Given the description of an element on the screen output the (x, y) to click on. 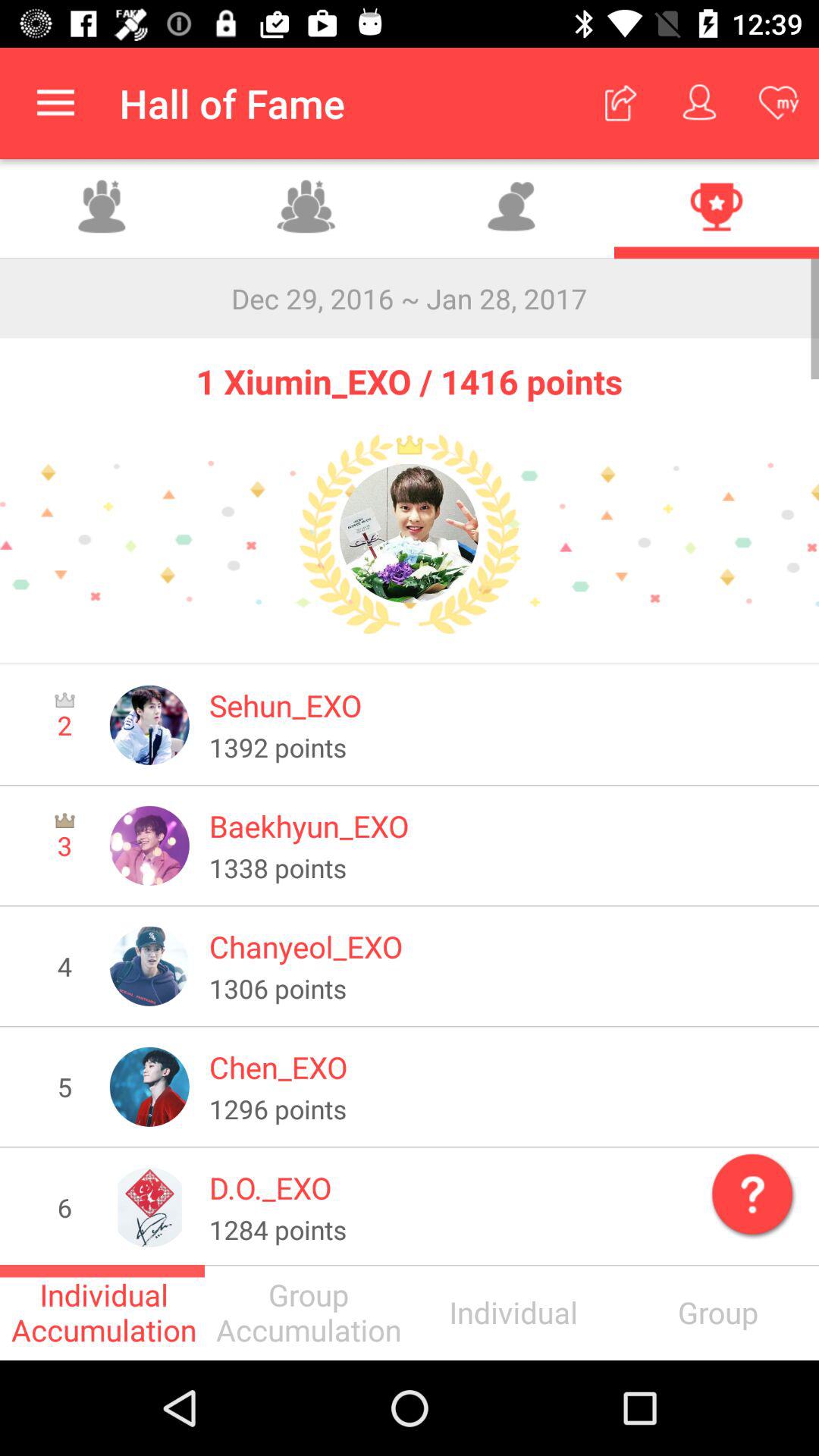
launch the item to the left of the group accumulation (102, 1312)
